Given the description of an element on the screen output the (x, y) to click on. 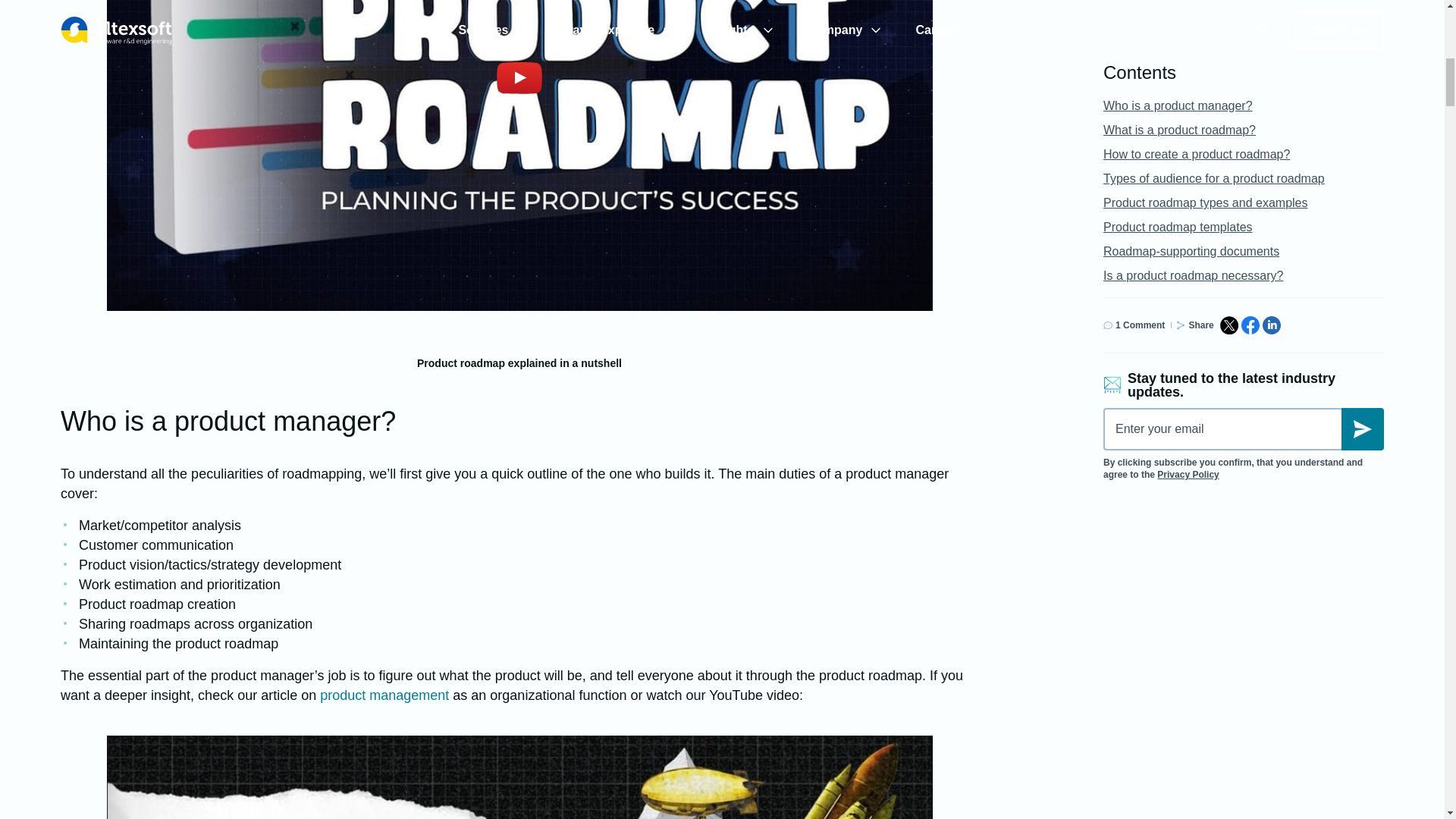
product management (384, 694)
